Given the description of an element on the screen output the (x, y) to click on. 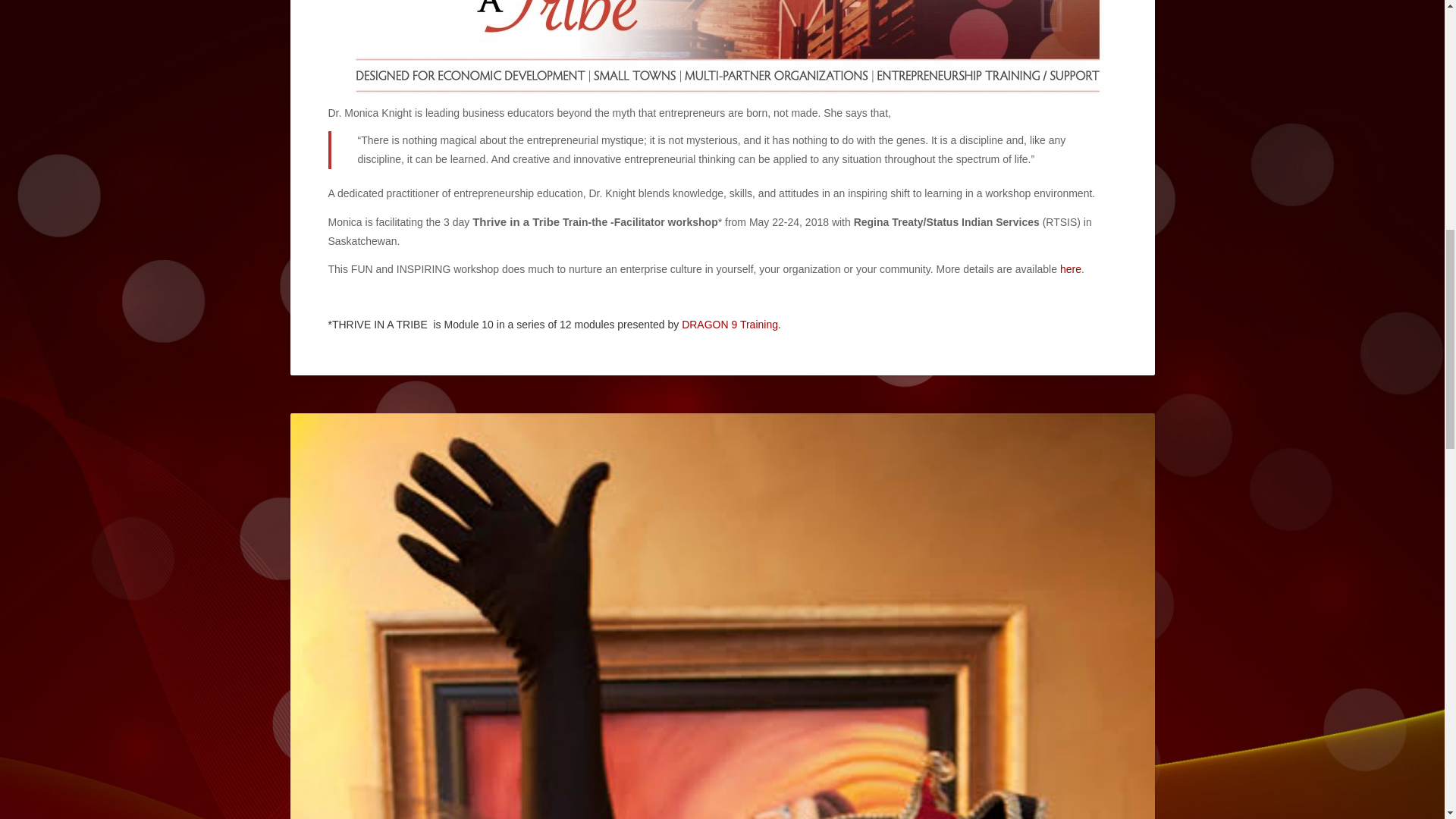
here (1070, 268)
Thrive in a Tribe (515, 221)
DRAGON 9 Training (729, 323)
